Given the description of an element on the screen output the (x, y) to click on. 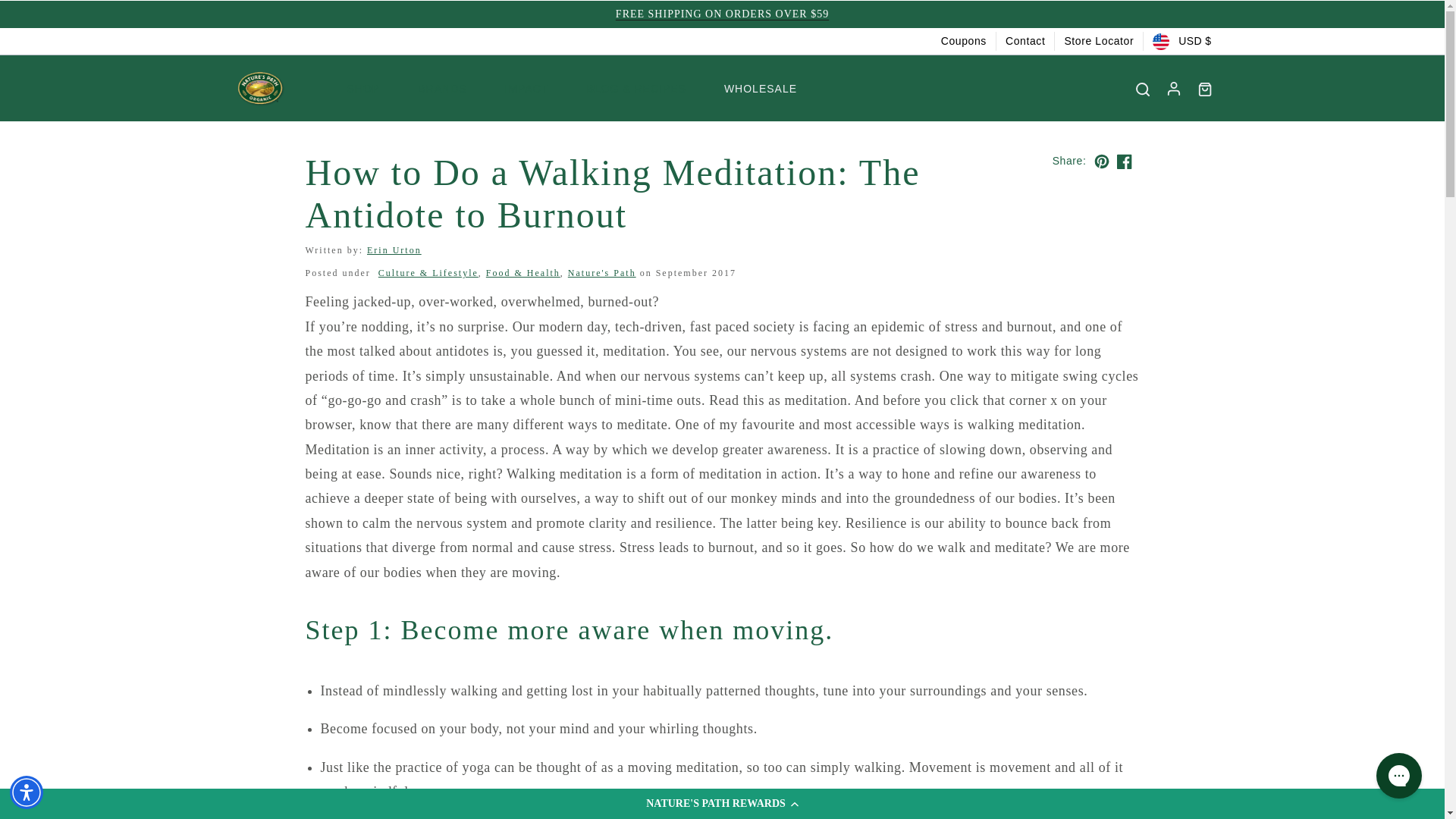
Account (1172, 88)
Accessibility Menu (26, 792)
Contact (1025, 40)
Store Locator (1099, 40)
Country (1182, 41)
Cart (1204, 89)
Coupons (963, 40)
NATURE'S PATH (259, 88)
Gorgias live chat messenger (1398, 775)
Skip to content (45, 16)
Search (1142, 89)
